Given the description of an element on the screen output the (x, y) to click on. 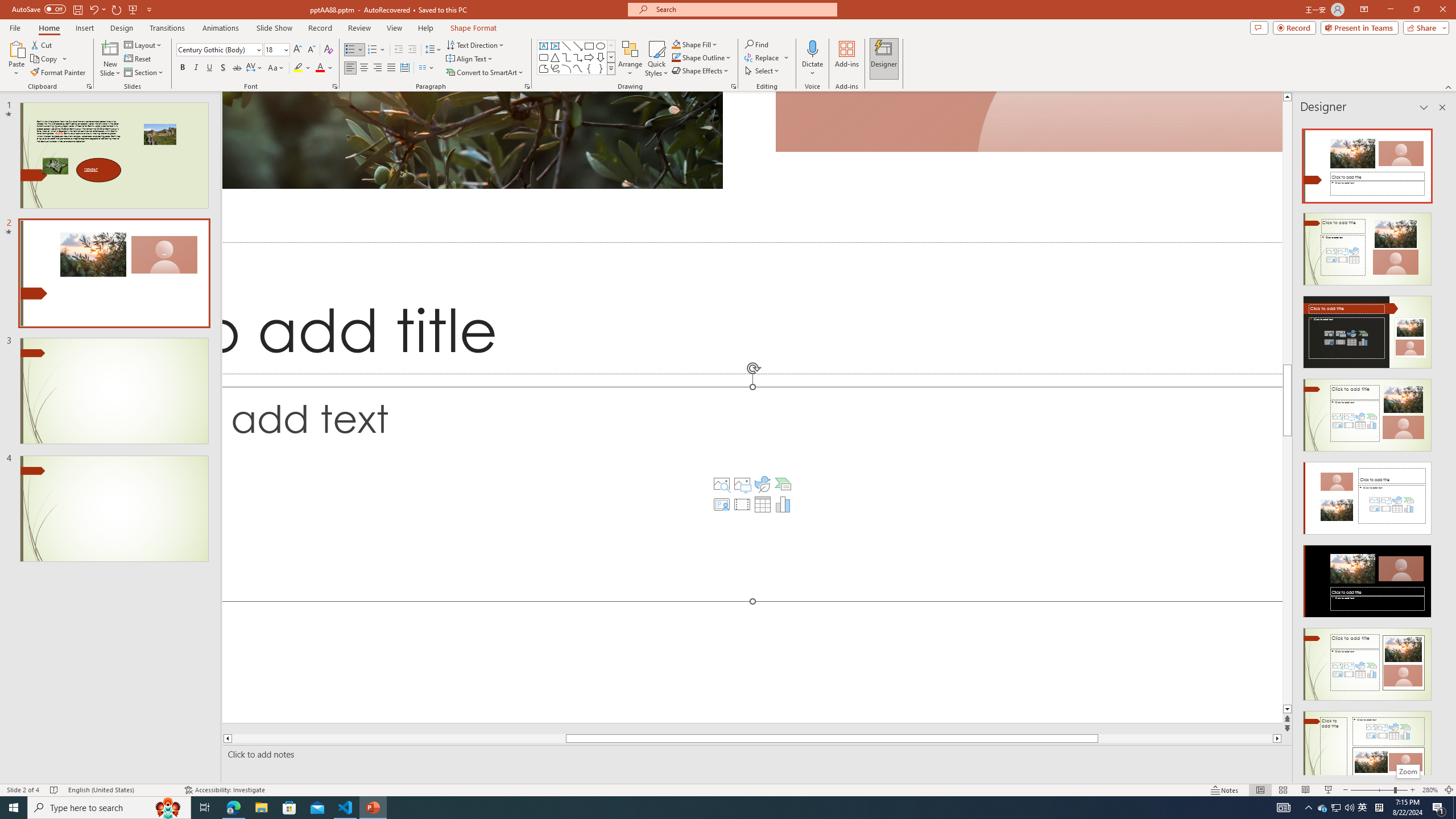
Align Right (377, 67)
Distributed (404, 67)
Shape Outline Teal, Accent 1 (675, 56)
Justify (390, 67)
Shape Format (473, 28)
Insert Chart (783, 504)
Record (320, 28)
Microsoft search (742, 9)
Insert Cameo (720, 504)
Design Idea (1366, 743)
File Tab (15, 27)
Design (122, 28)
Font (215, 49)
